Given the description of an element on the screen output the (x, y) to click on. 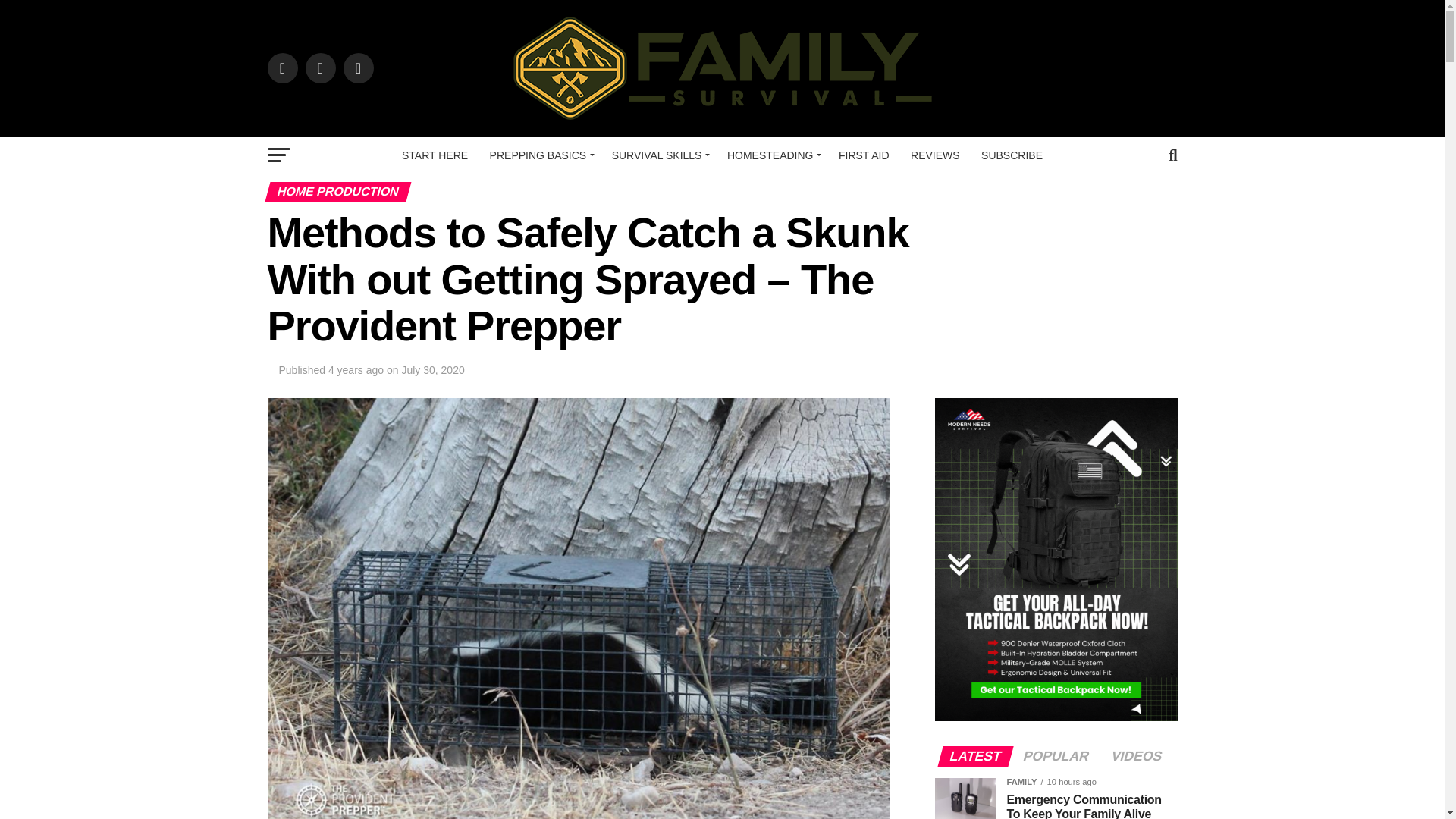
START HERE (435, 155)
PREPPING BASICS (539, 155)
